Given the description of an element on the screen output the (x, y) to click on. 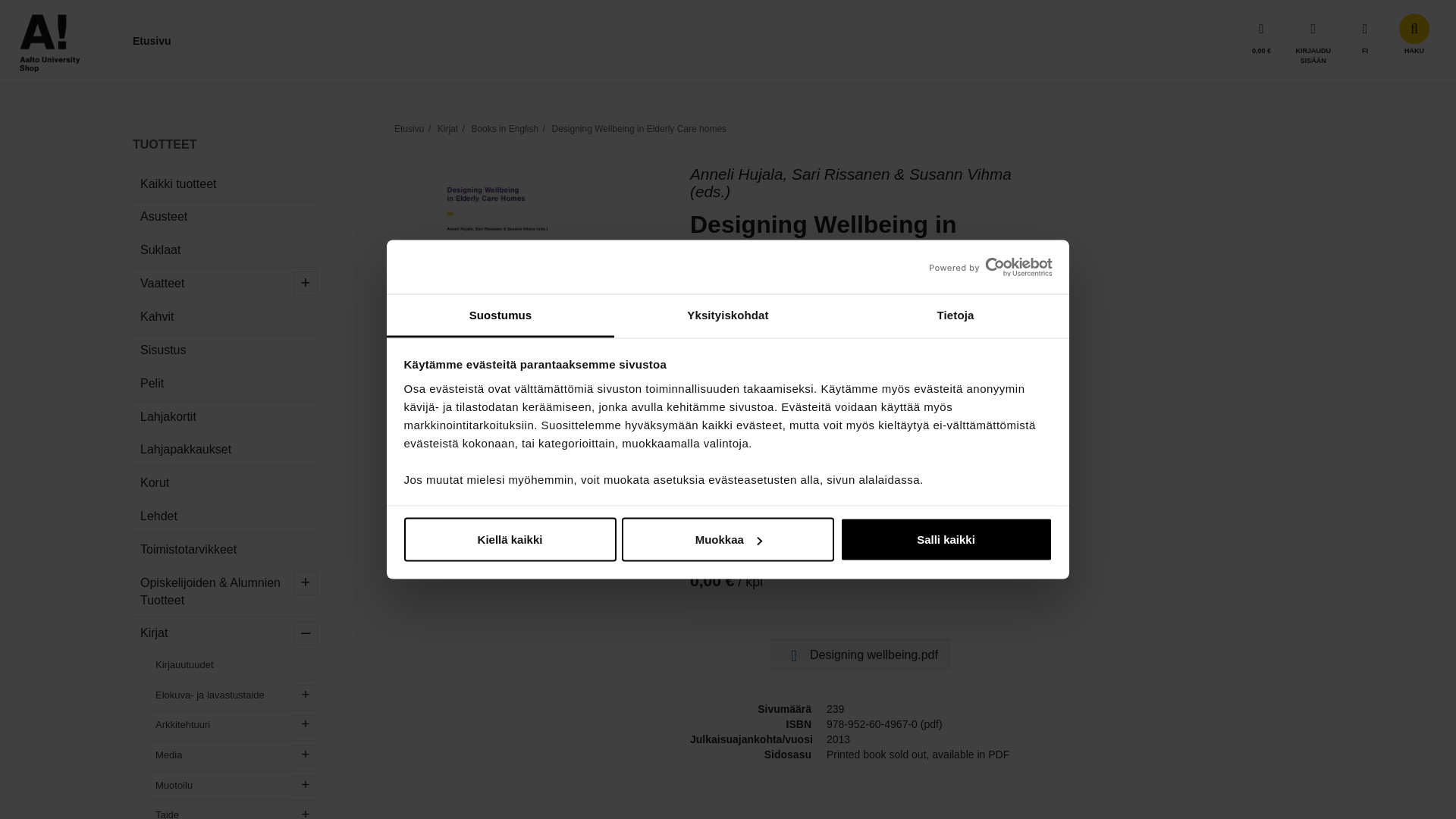
Yksityiskohdat (727, 315)
Suostumus (500, 315)
Etusivu (151, 41)
FI (1364, 36)
Muokkaa (727, 539)
Salli kaikki (946, 539)
Tietoja (954, 315)
